Given the description of an element on the screen output the (x, y) to click on. 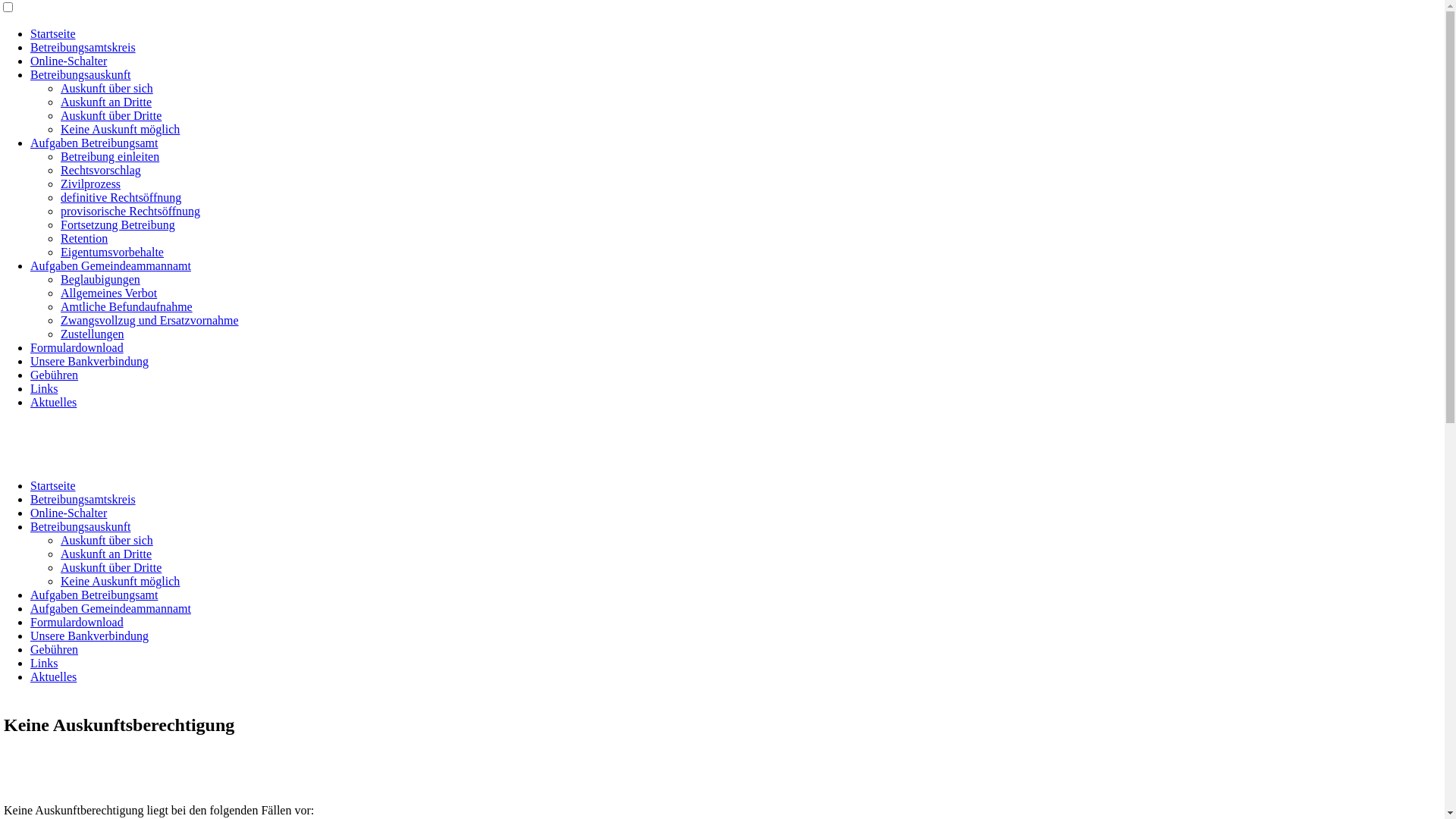
Online-Schalter Element type: text (68, 512)
Betreibungsamtskreis Element type: text (82, 498)
Betreibung einleiten Element type: text (109, 156)
Unsere Bankverbindung Element type: text (89, 635)
Online-Schalter Element type: text (68, 60)
Eigentumsvorbehalte Element type: text (111, 251)
Aufgaben Gemeindeammannamt Element type: text (110, 265)
Aufgaben Gemeindeammannamt Element type: text (110, 608)
Retention Element type: text (83, 238)
Zwangsvollzug und Ersatzvornahme Element type: text (149, 319)
Links Element type: text (43, 662)
Startseite Element type: text (52, 33)
Unsere Bankverbindung Element type: text (89, 360)
Auskunft an Dritte Element type: text (105, 553)
Zustellungen Element type: text (92, 333)
Startseite Element type: text (52, 485)
Aufgaben Betreibungsamt Element type: text (93, 142)
Aktuelles Element type: text (53, 401)
Aktuelles Element type: text (53, 676)
Allgemeines Verbot Element type: text (108, 292)
Links Element type: text (43, 388)
Aufgaben Betreibungsamt Element type: text (93, 594)
Beglaubigungen Element type: text (100, 279)
Amtliche Befundaufnahme Element type: text (126, 306)
Betreibungsauskunft Element type: text (80, 526)
Rechtsvorschlag Element type: text (100, 169)
Zivilprozess Element type: text (90, 183)
Formulardownload Element type: text (76, 621)
Betreibungsamtskreis Element type: text (82, 46)
Fortsetzung Betreibung Element type: text (117, 224)
Betreibungsauskunft Element type: text (80, 74)
Auskunft an Dritte Element type: text (105, 101)
Formulardownload Element type: text (76, 347)
